Given the description of an element on the screen output the (x, y) to click on. 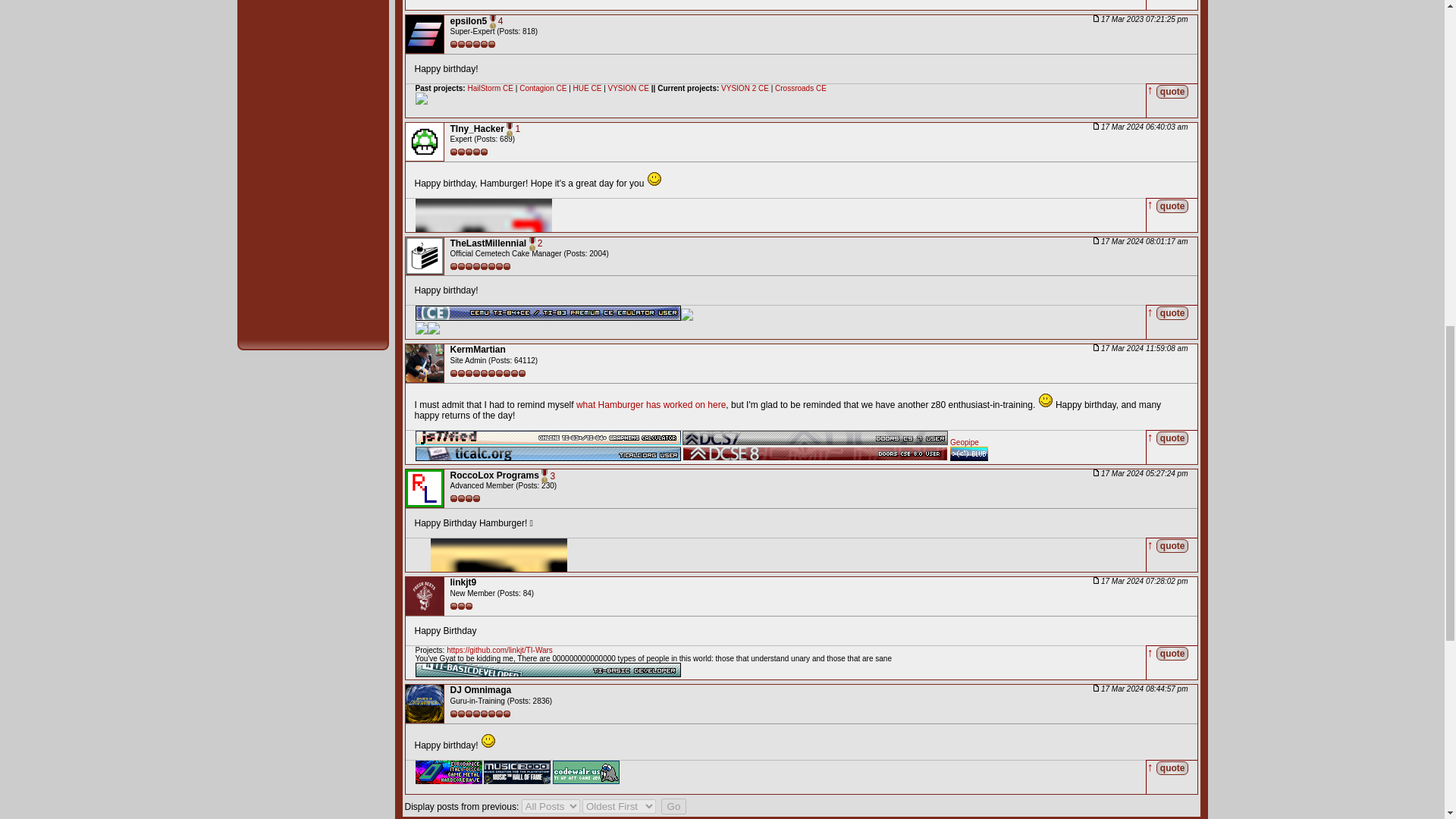
Go (674, 806)
